Given the description of an element on the screen output the (x, y) to click on. 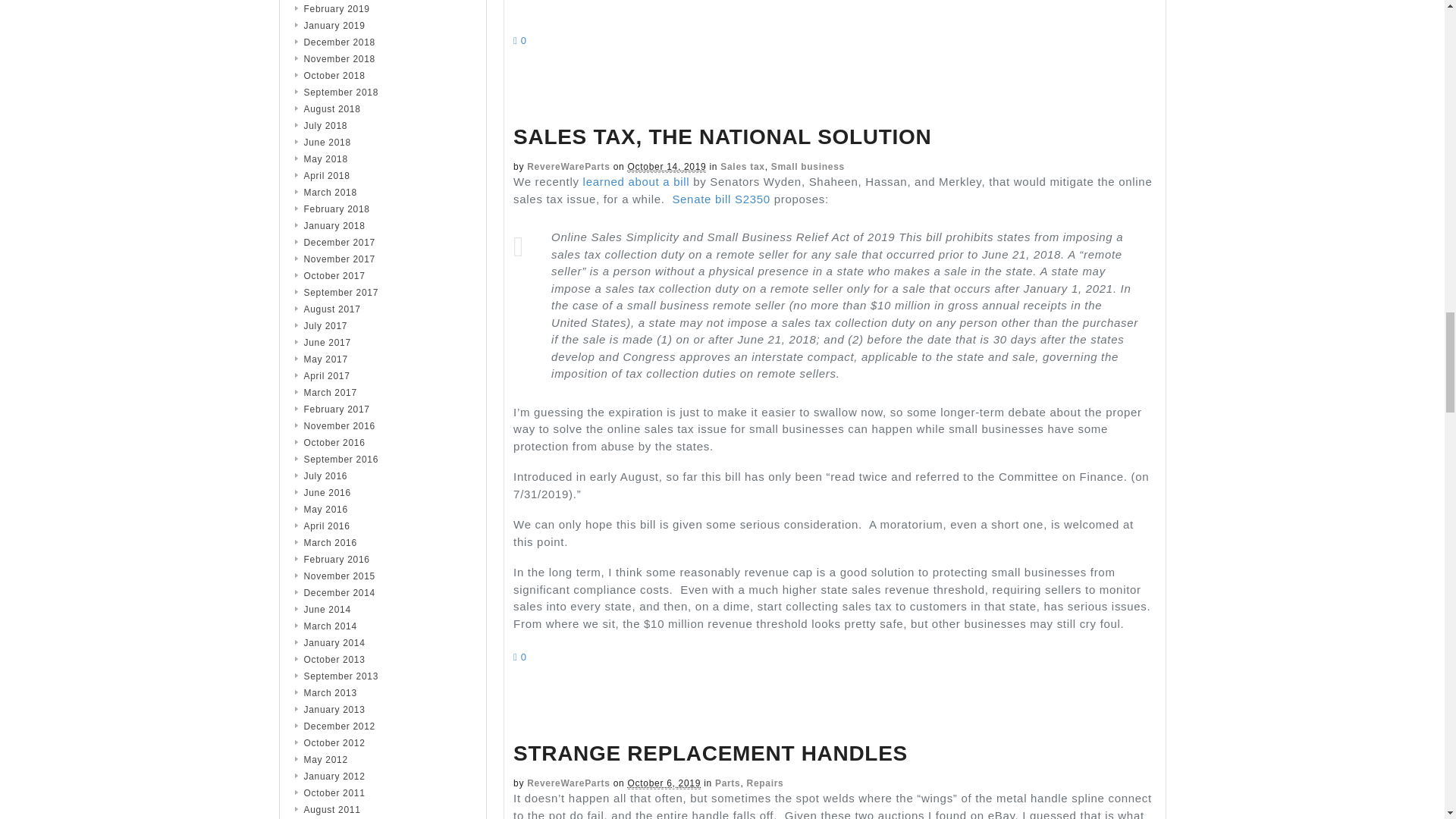
Sales tax, the national solution (722, 136)
Posts by RevereWareParts (568, 166)
